Given the description of an element on the screen output the (x, y) to click on. 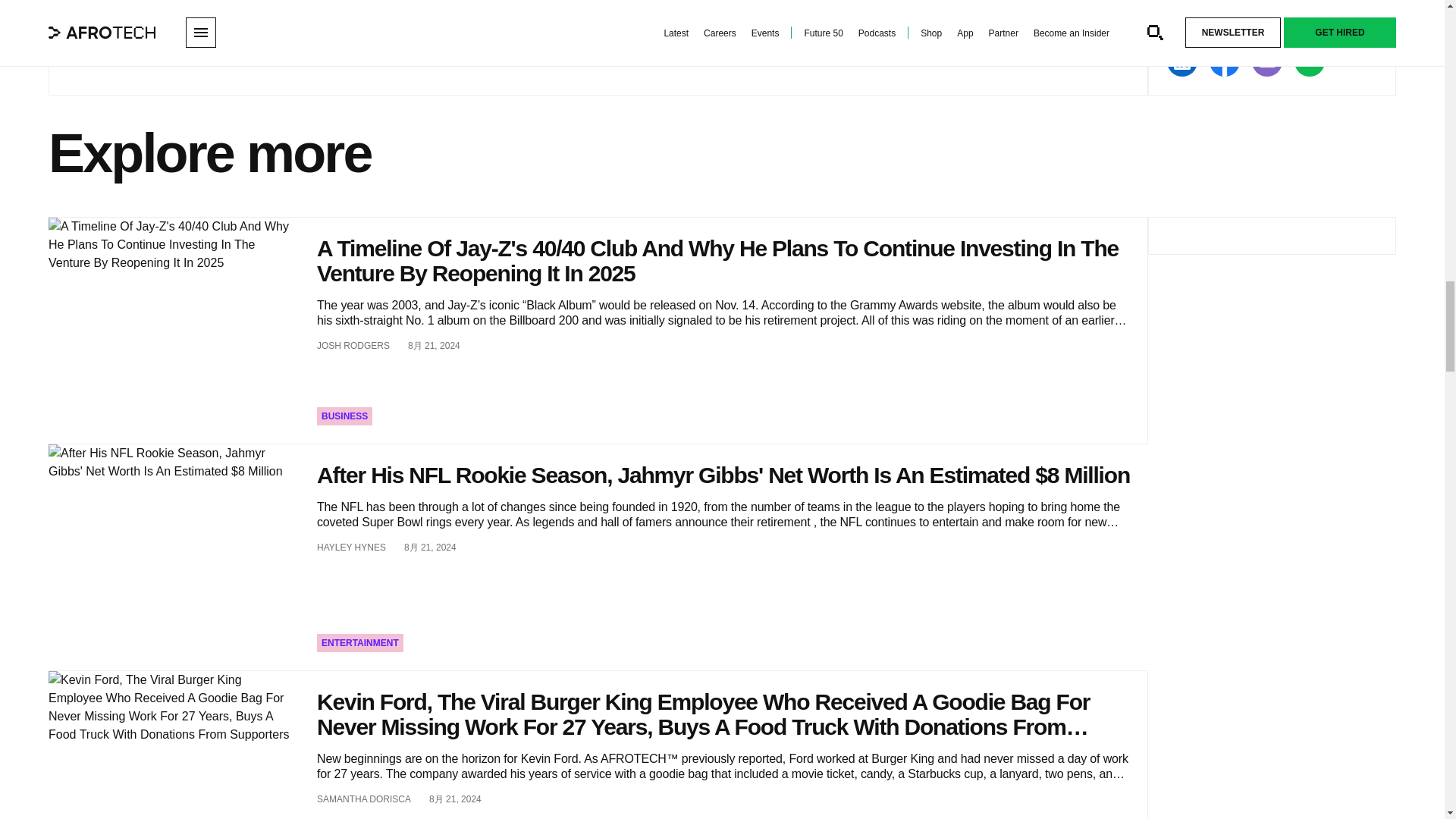
JOSH RODGERS (353, 345)
BUSINESS (344, 416)
